Given the description of an element on the screen output the (x, y) to click on. 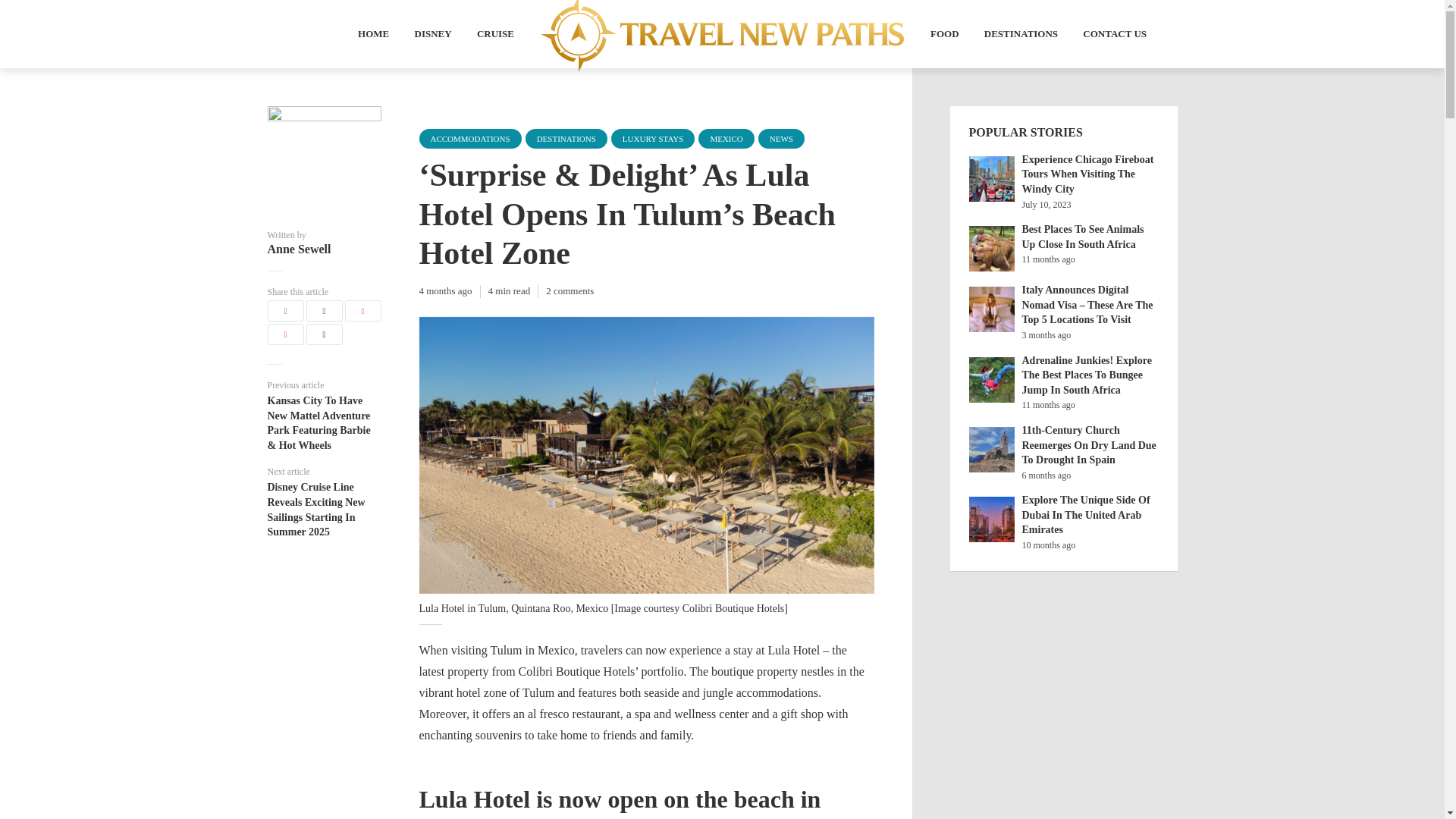
CRUISE (495, 34)
CONTACT US (1115, 34)
NEWS (781, 138)
2 comments (570, 290)
LUXURY STAYS (653, 138)
DESTINATIONS (566, 138)
2 comments (570, 290)
ACCOMMODATIONS (470, 138)
DISNEY (432, 34)
MEXICO (726, 138)
Anne Sewell (323, 249)
DESTINATIONS (1021, 34)
